Given the description of an element on the screen output the (x, y) to click on. 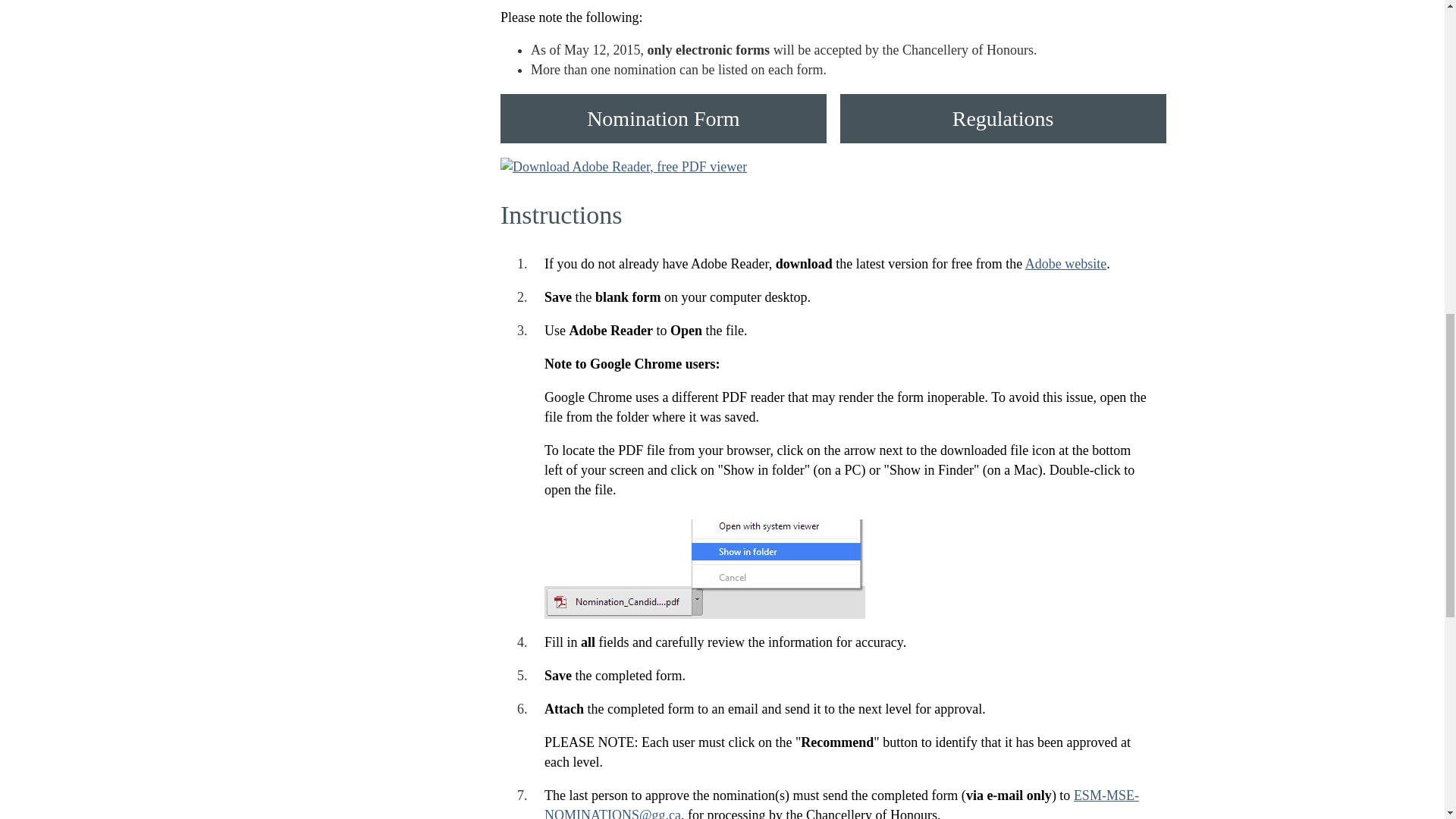
Download Adobe Reader, free PDF viewer (623, 167)
